Given the description of an element on the screen output the (x, y) to click on. 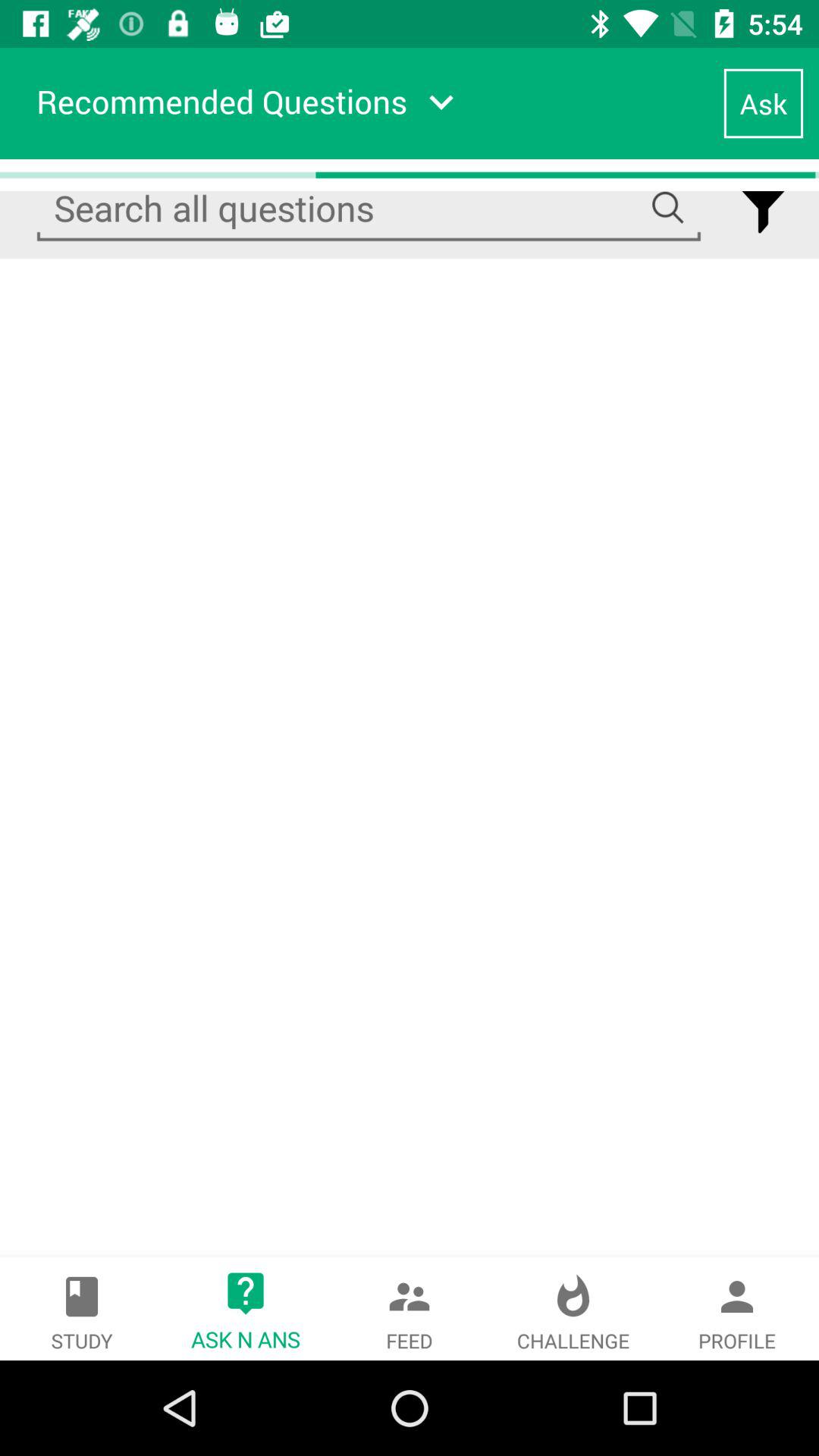
search (368, 208)
